Given the description of an element on the screen output the (x, y) to click on. 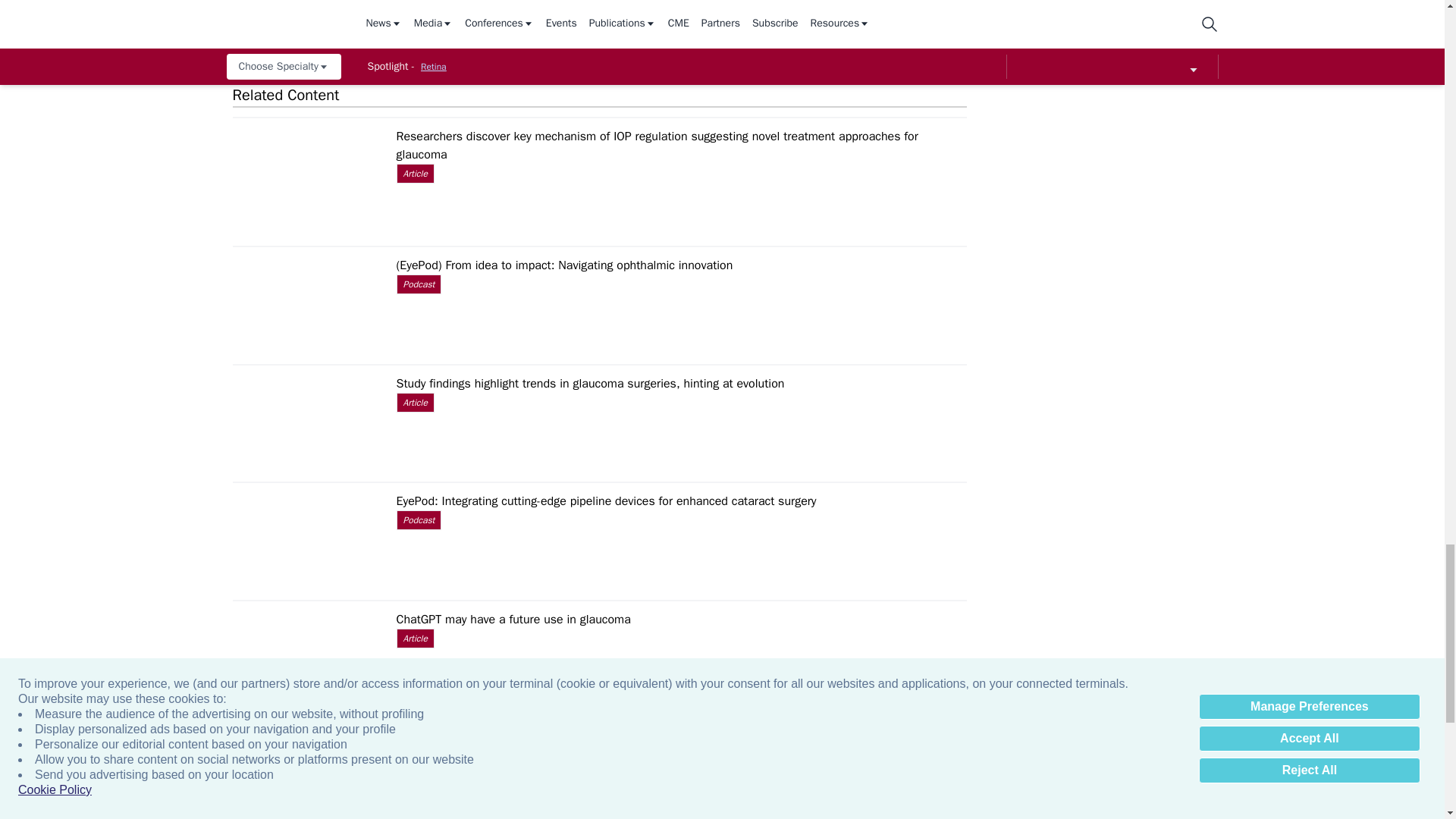
1 KOL is featured in this series. (835, 13)
Lorraine Provencher, MD, presenting slides (1326, 13)
1 KOL is featured in this series. (343, 13)
1 KOL is featured in this series. (671, 13)
1 KOL is featured in this series. (507, 13)
